Given the description of an element on the screen output the (x, y) to click on. 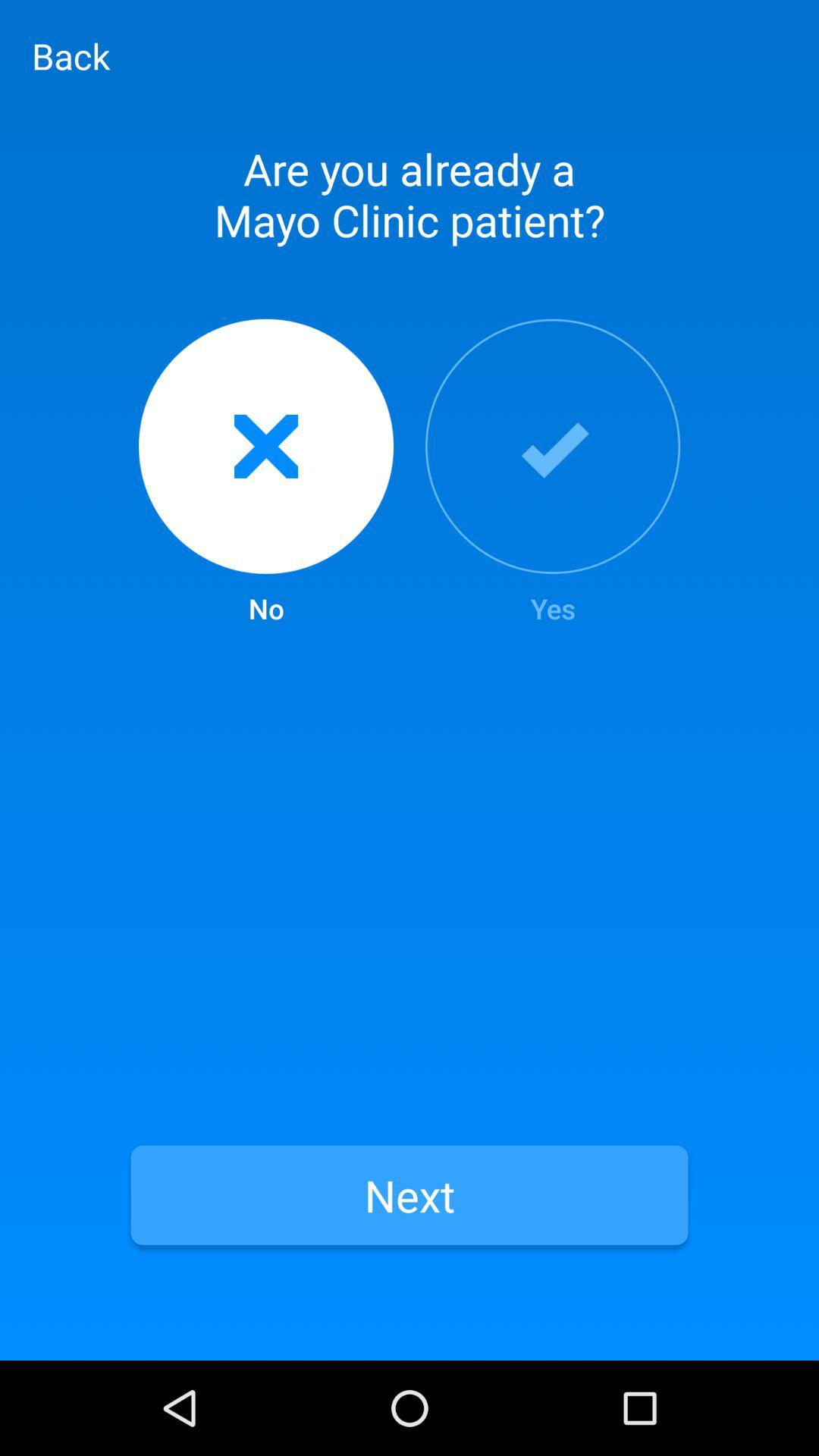
turn off the back (70, 55)
